Given the description of an element on the screen output the (x, y) to click on. 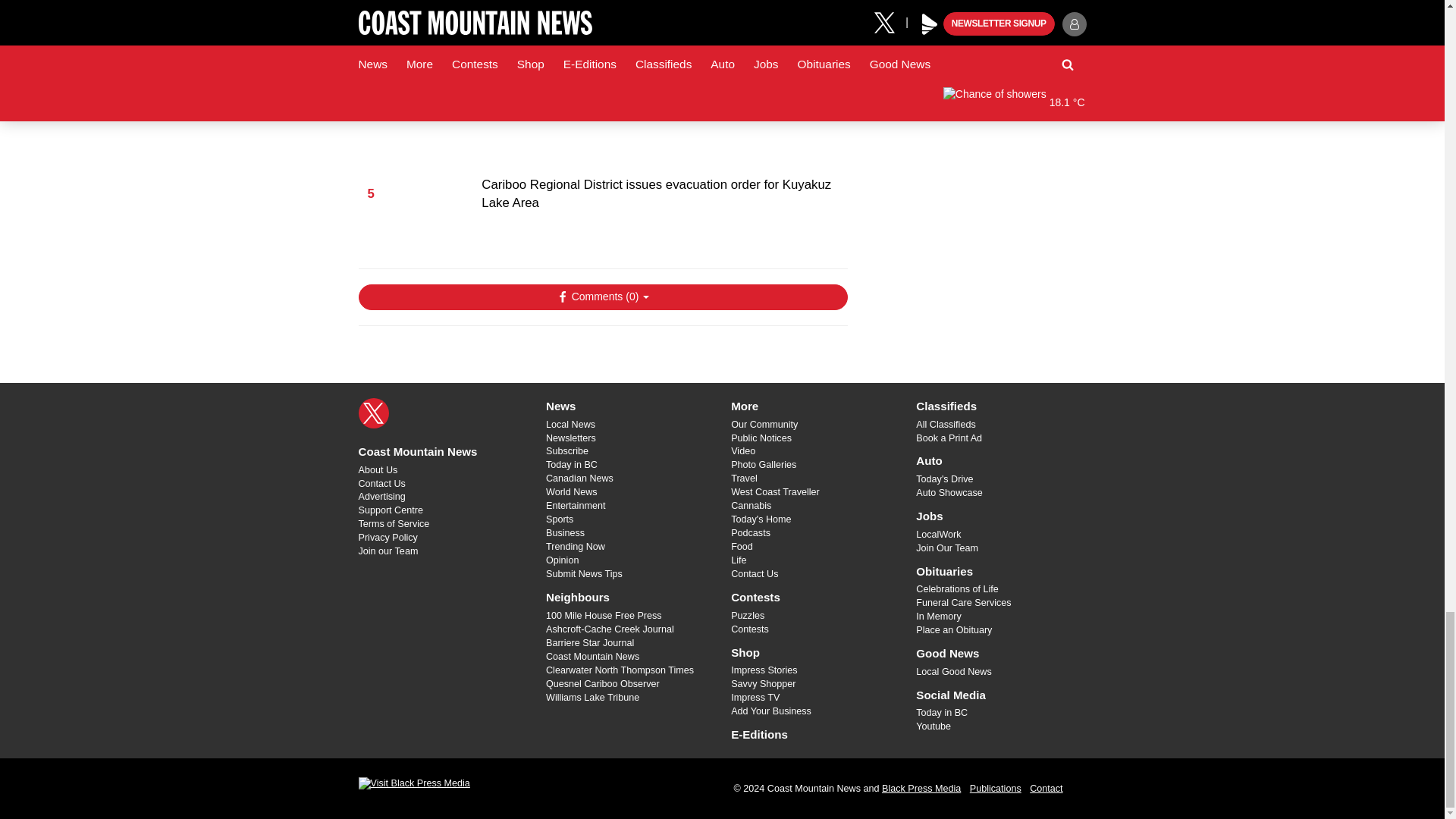
X (373, 413)
Show Comments (602, 297)
